Given the description of an element on the screen output the (x, y) to click on. 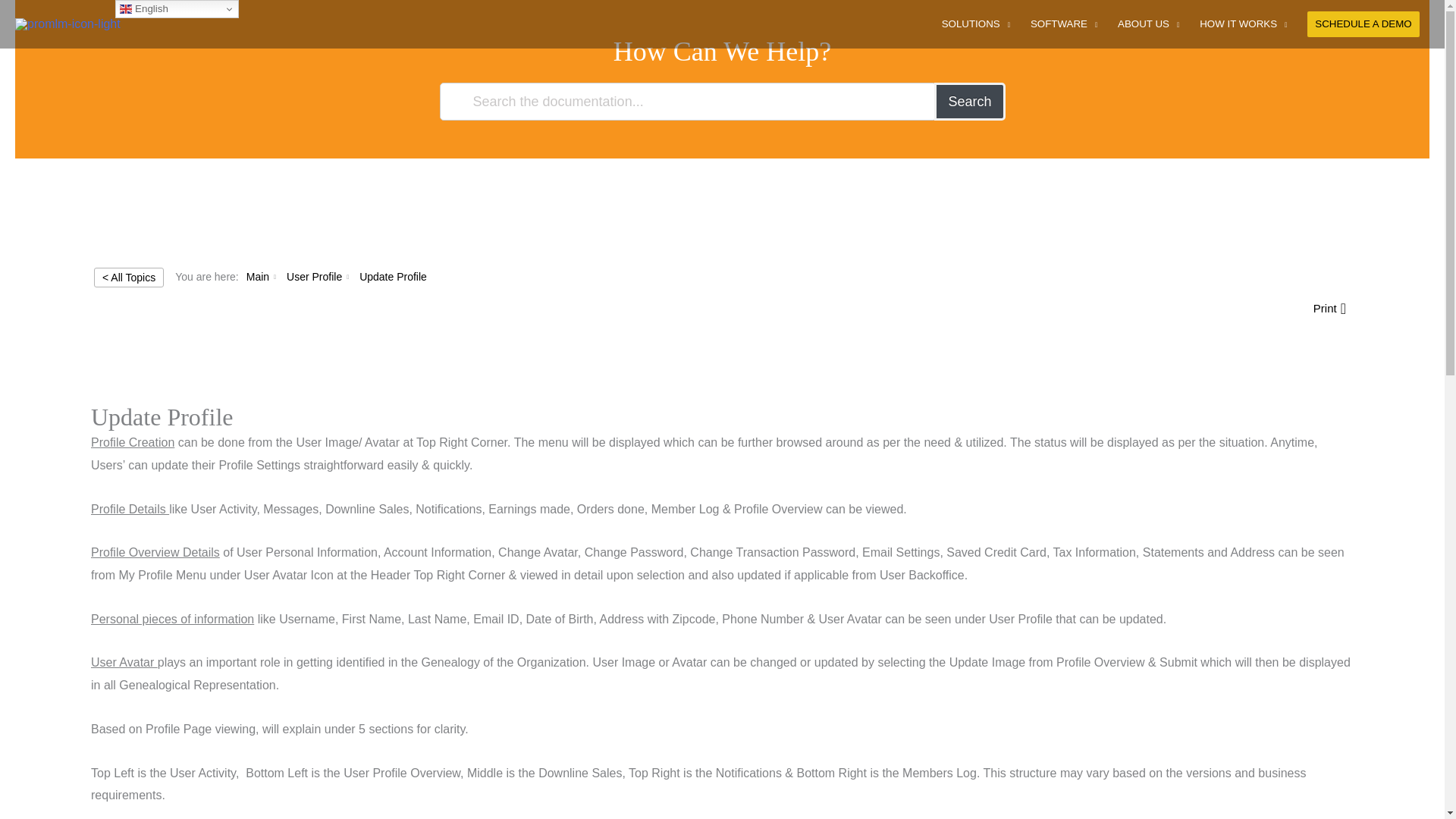
SOLUTIONS (975, 24)
SOFTWARE (1064, 24)
